Given the description of an element on the screen output the (x, y) to click on. 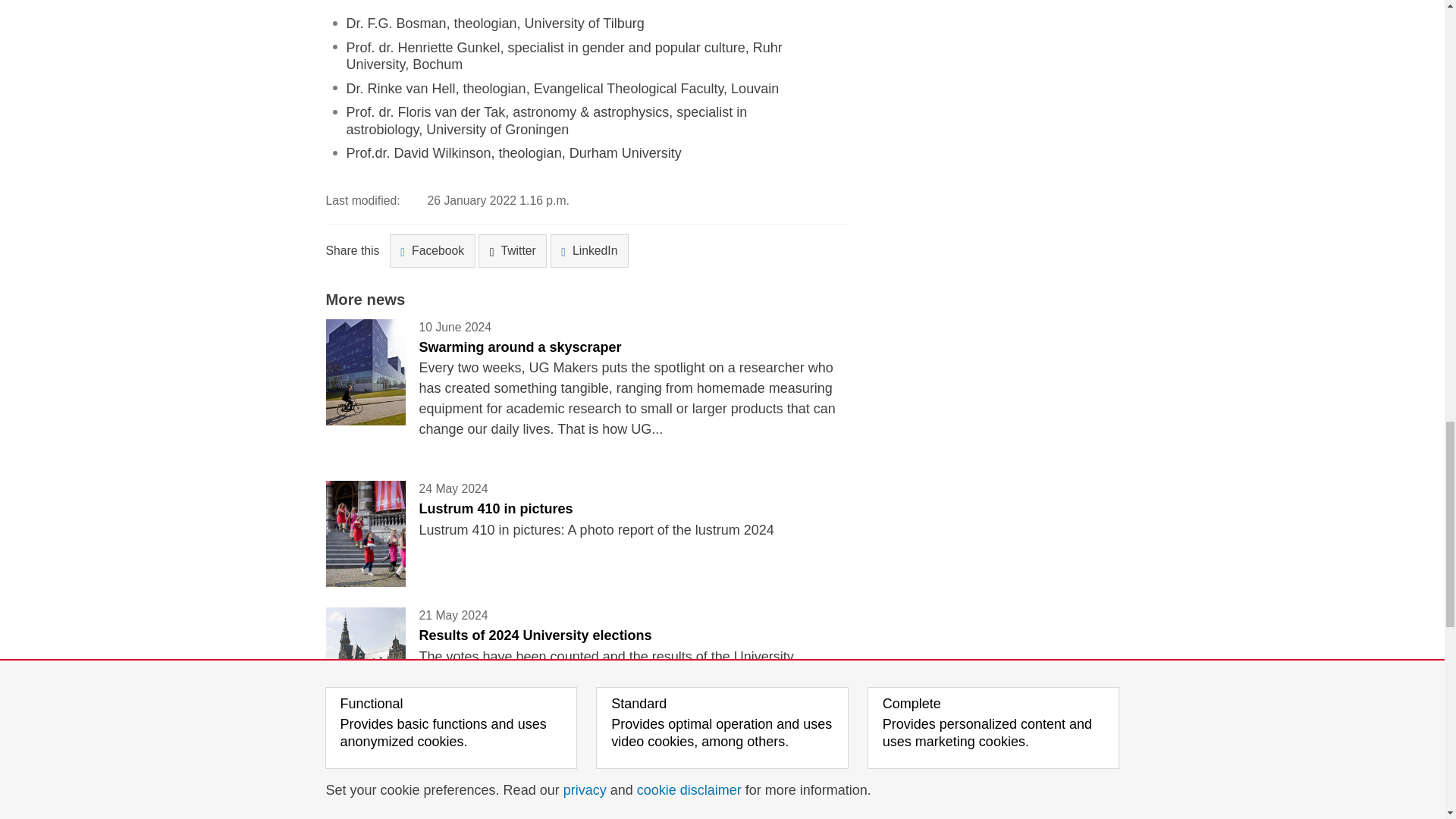
facebook (746, 814)
rss (777, 814)
instagram (787, 814)
youtube (797, 814)
twitter (757, 814)
linkedin (767, 814)
